Given the description of an element on the screen output the (x, y) to click on. 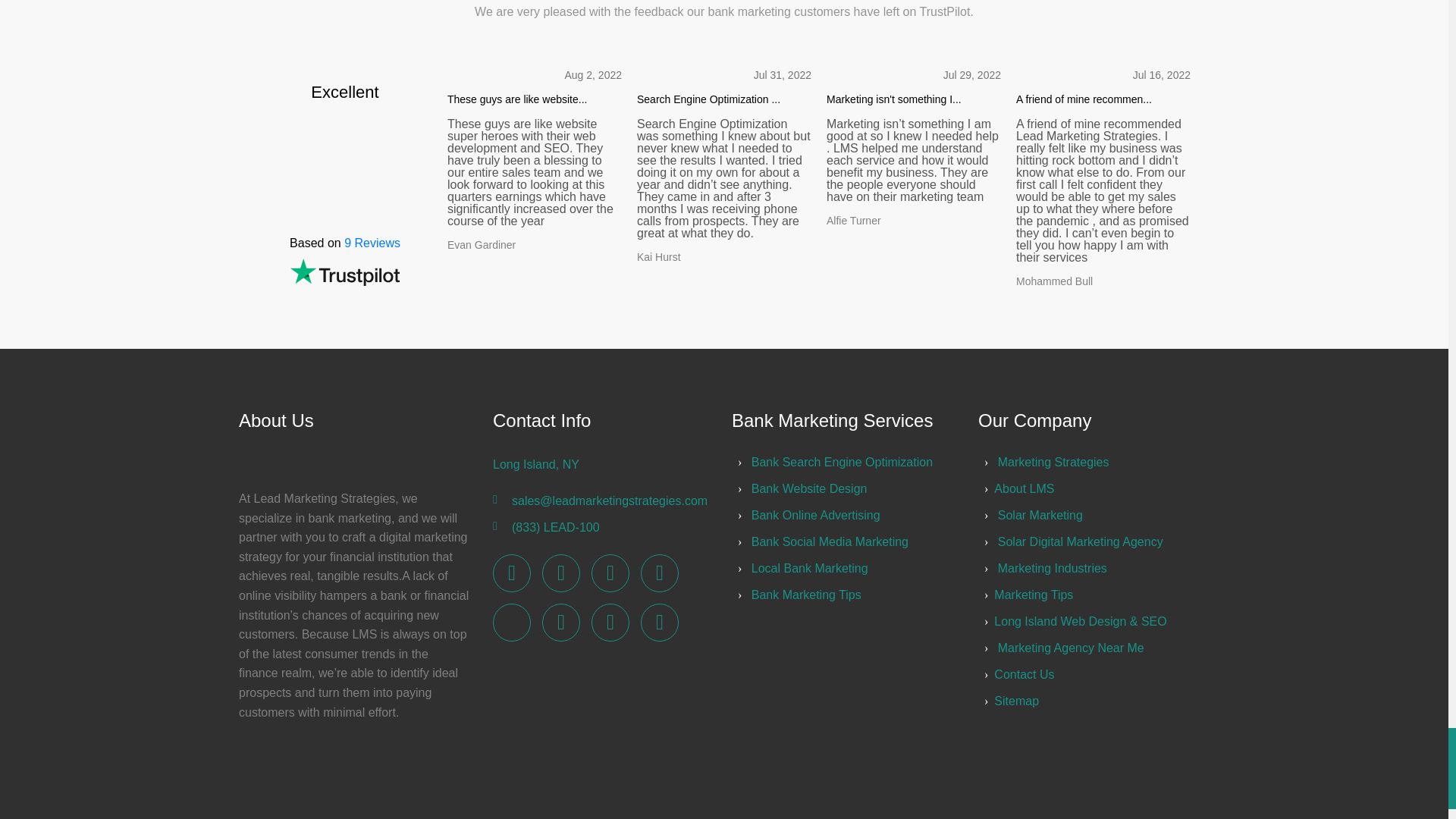
Lead Marketing Strategies (609, 622)
Lead Marketing Strategies (560, 573)
Lead Marketing Strategies (659, 622)
PPC Advertising (809, 488)
Lead Marketing Strategies (659, 573)
Search Engine Optimization (842, 461)
Lead Marketing Strategies (512, 573)
Lead Marketing Strategies (609, 573)
Reputation Management (815, 514)
Lead Marketing Strategies (560, 622)
Local Bank Marketing (809, 567)
Solar Marketing Tips (806, 594)
SEO Copywriting (829, 541)
Lead Marketing Strategies (1053, 461)
